Given the description of an element on the screen output the (x, y) to click on. 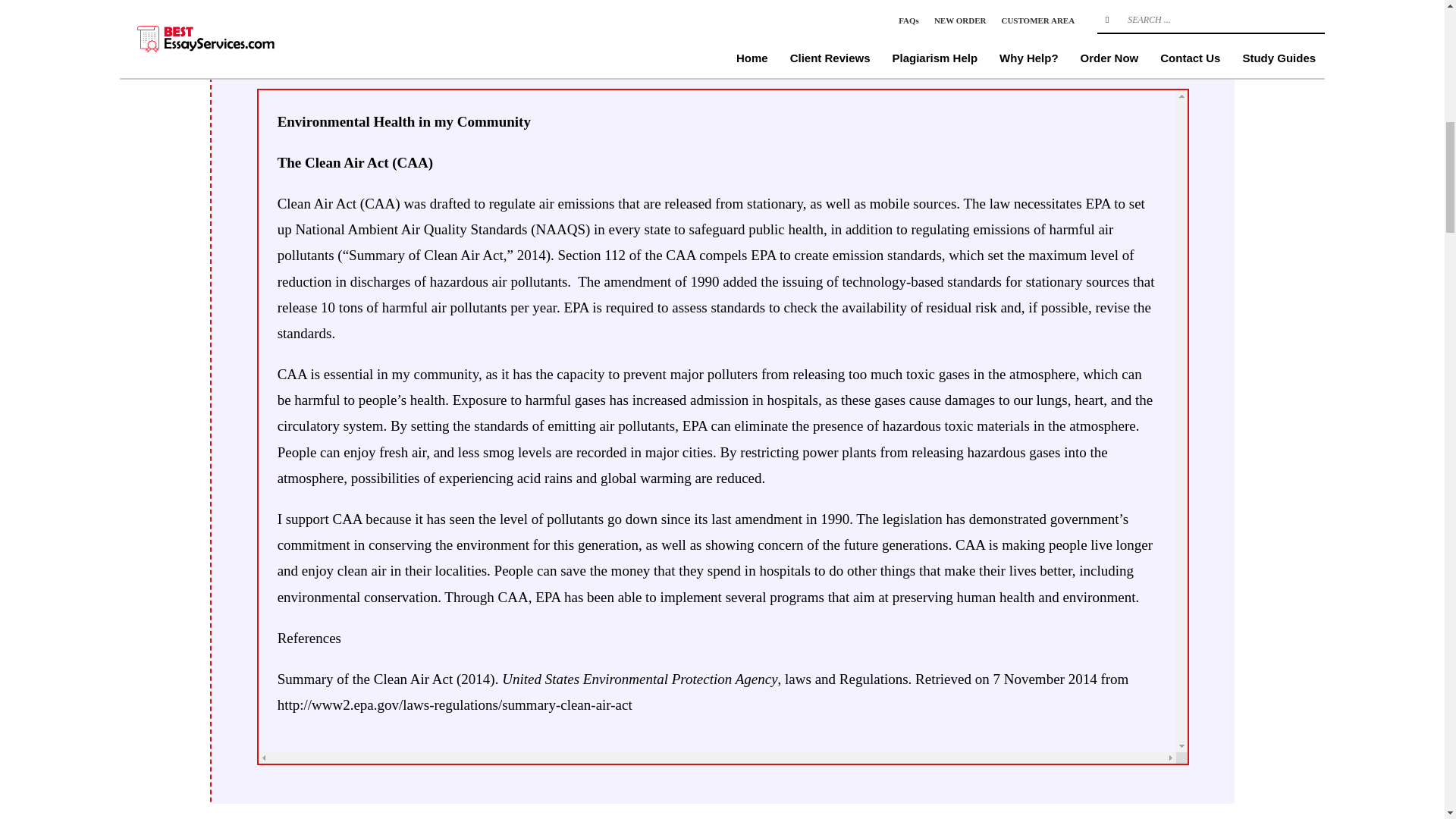
RESEARCH PAPER HELP (457, 3)
